Given the description of an element on the screen output the (x, y) to click on. 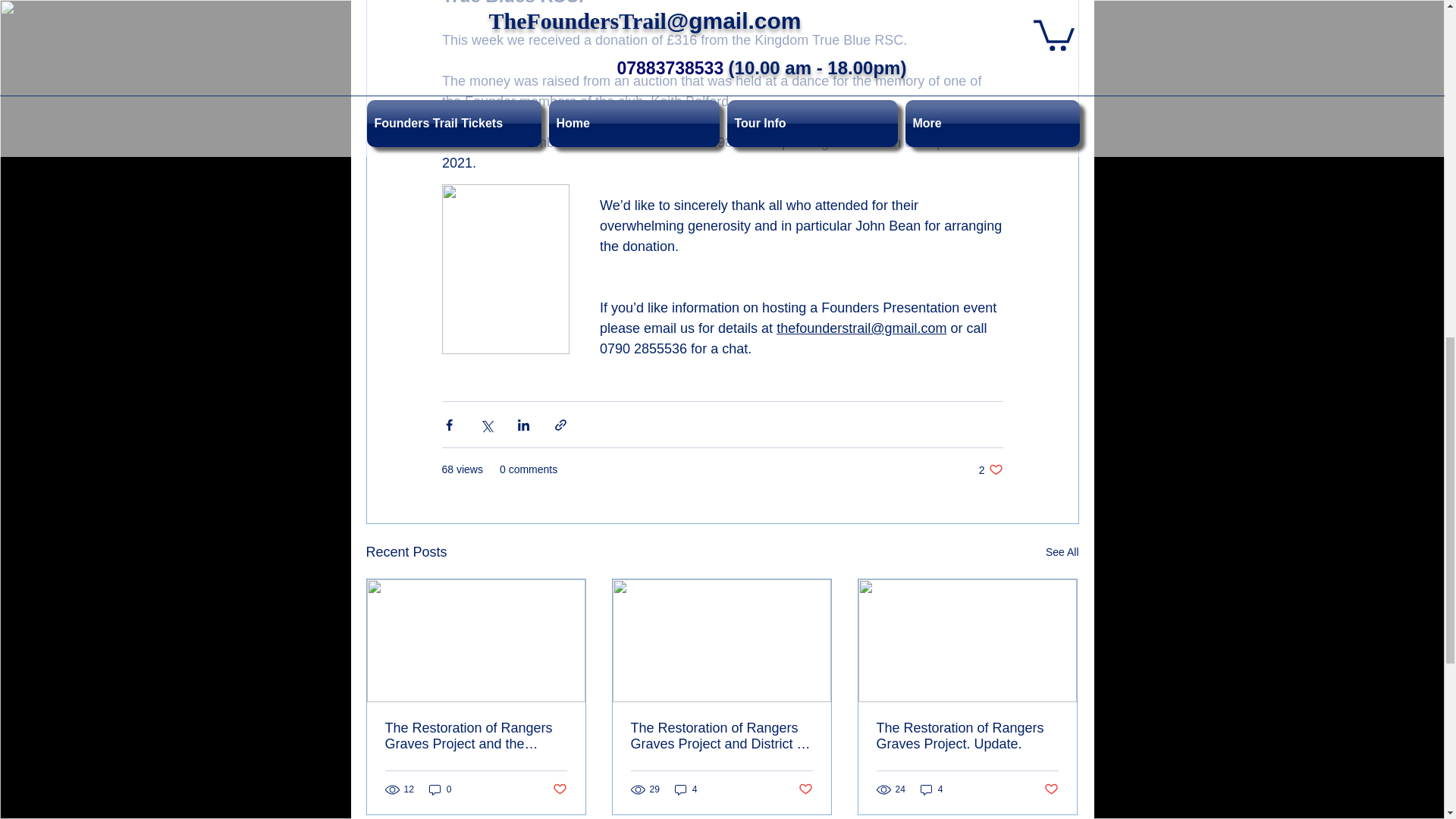
4 (931, 789)
Post not marked as liked (804, 789)
0 (440, 789)
Post not marked as liked (1050, 789)
4 (685, 789)
See All (1061, 552)
Post not marked as liked (558, 789)
The Restoration of Rangers Graves Project. Update. (967, 736)
